Given the description of an element on the screen output the (x, y) to click on. 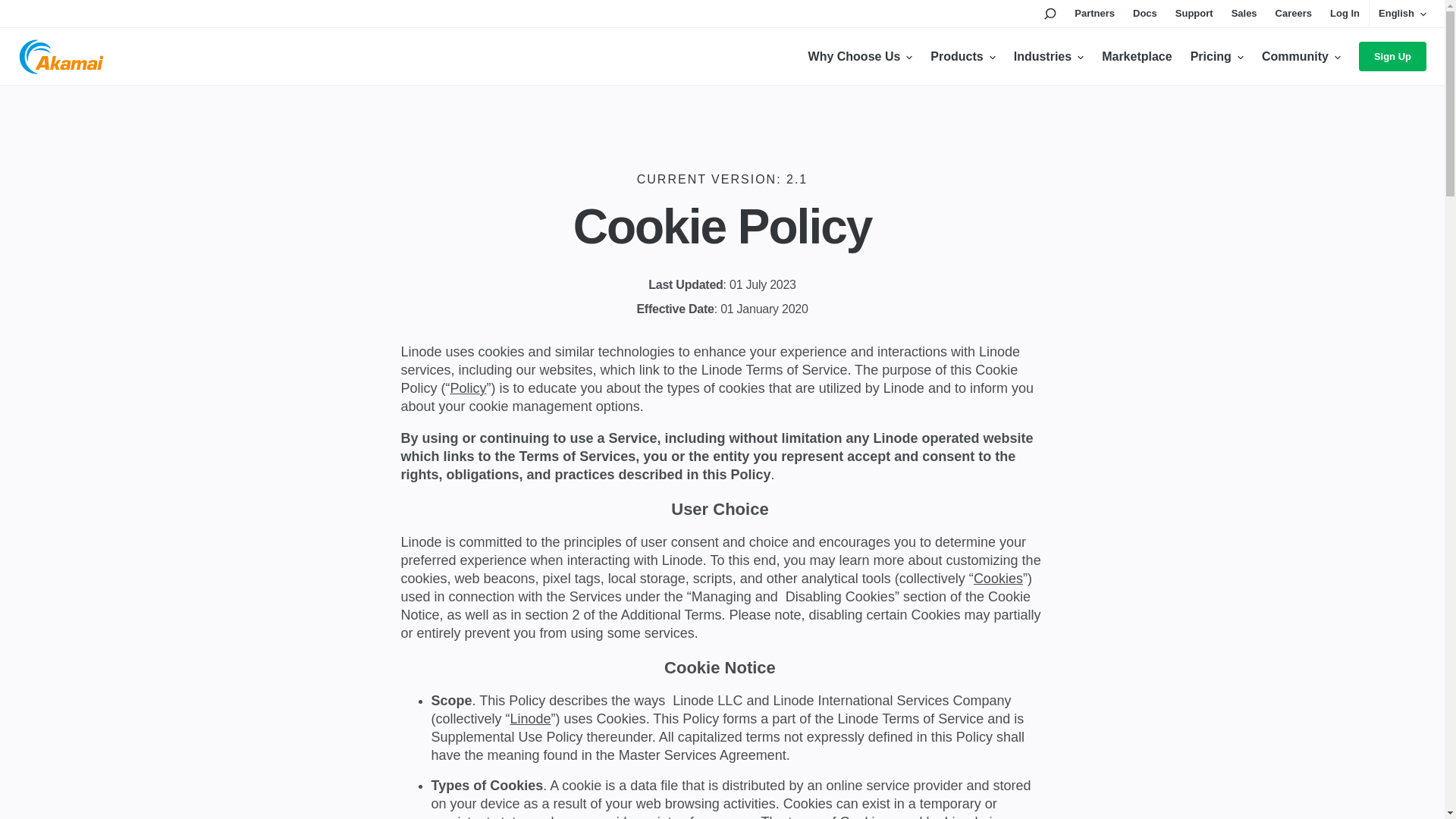
Partners (1094, 13)
Community (1301, 55)
Sign Up (1392, 55)
Products (962, 55)
Docs (1144, 13)
Sales (1244, 13)
Pricing (1217, 55)
Careers (1293, 13)
Marketplace (1137, 55)
Why Choose Us (860, 55)
Industries (1048, 55)
Support (1193, 13)
Log In (1344, 13)
